Given the description of an element on the screen output the (x, y) to click on. 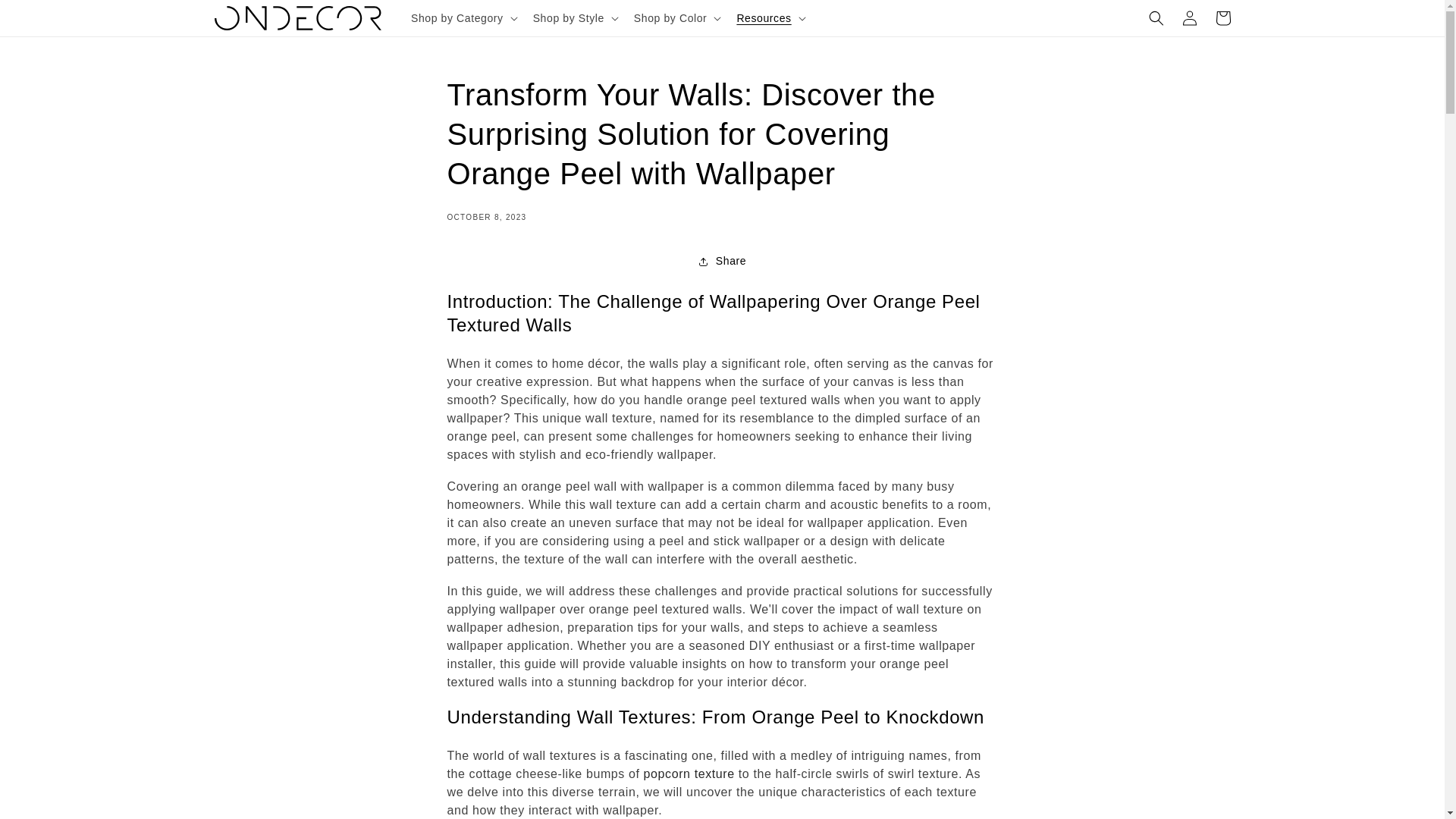
Skip to content (45, 17)
